Given the description of an element on the screen output the (x, y) to click on. 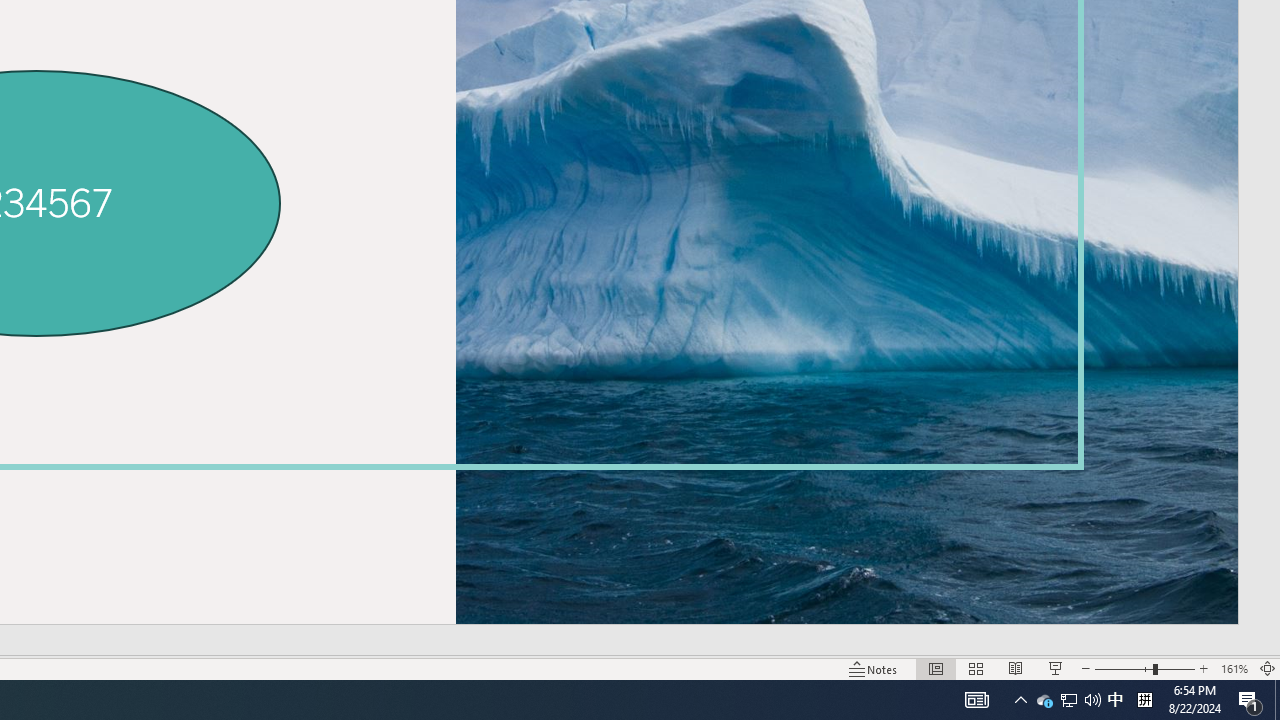
Zoom 161% (1234, 668)
Zoom to Fit  (1267, 668)
Notes  (874, 668)
Zoom In (1204, 668)
Zoom Out (1123, 668)
